Given the description of an element on the screen output the (x, y) to click on. 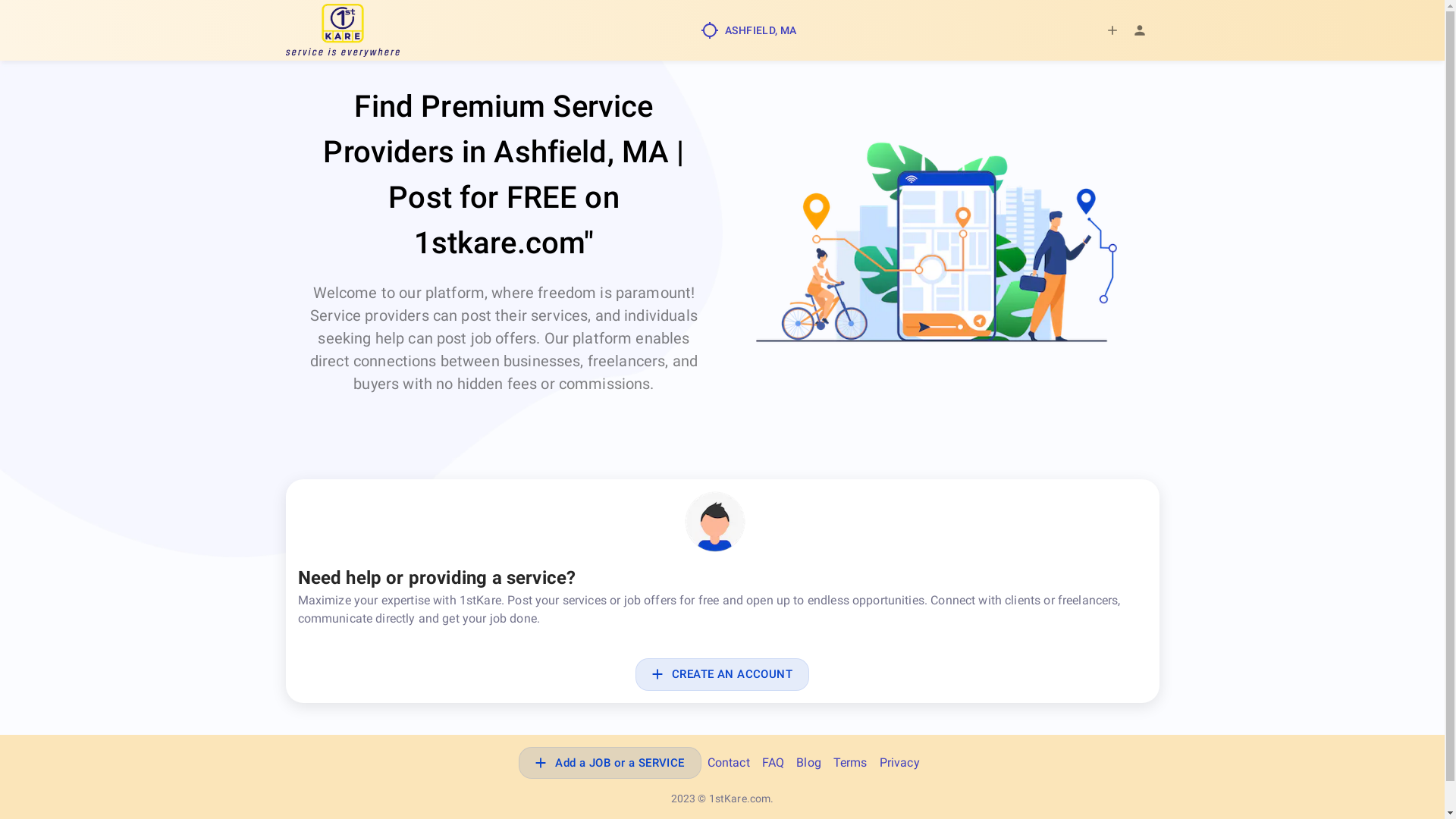
Add a JOB or a SERVICE Element type: text (609, 762)
FAQ Element type: text (773, 762)
Contact Element type: text (728, 762)
ASHFIELD, MA Element type: text (748, 30)
CREATE AN ACCOUNT Element type: text (722, 674)
Blog Element type: text (808, 762)
Privacy Element type: text (899, 762)
Terms Element type: text (850, 762)
